Given the description of an element on the screen output the (x, y) to click on. 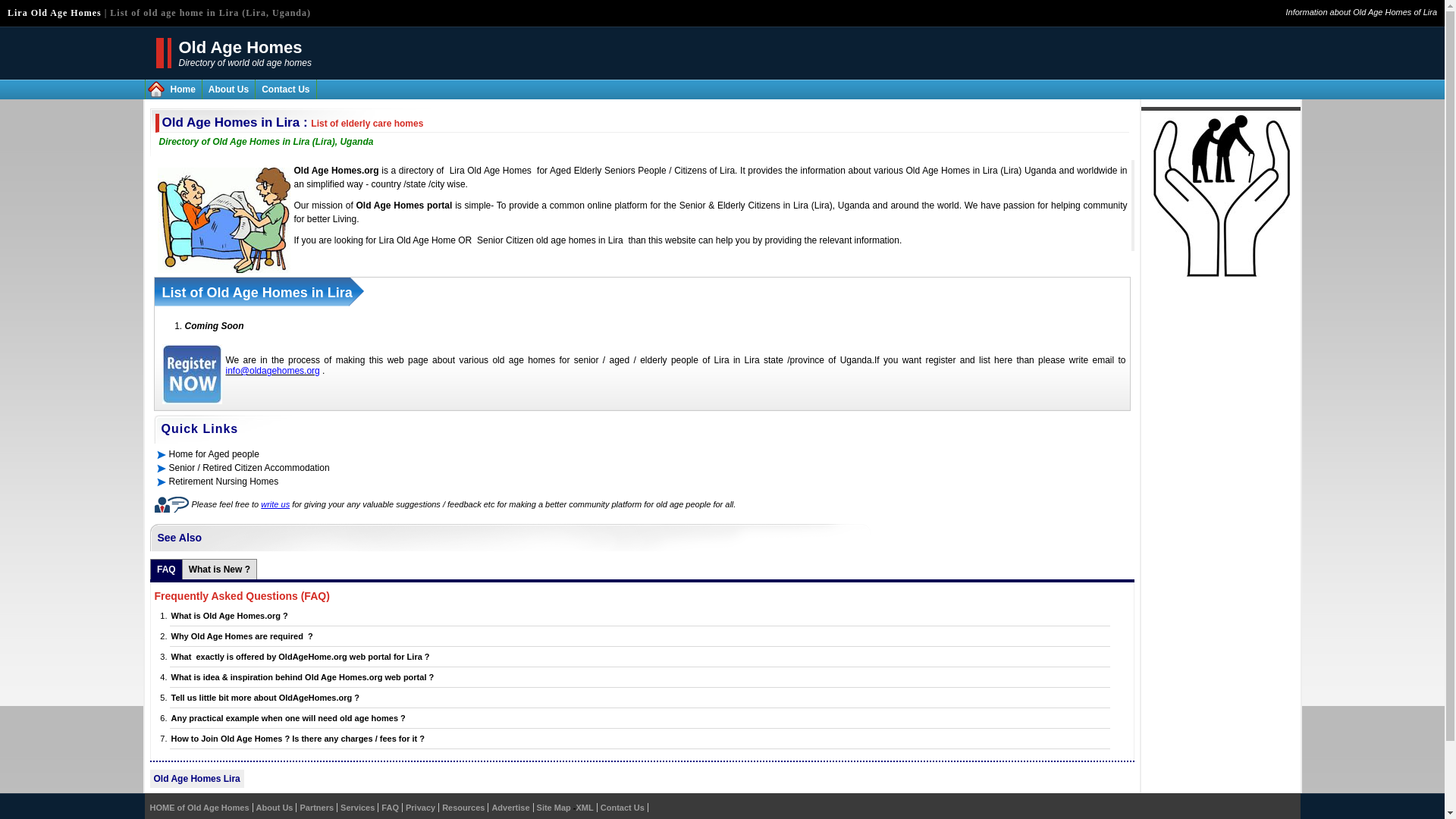
HOME of Old Age Homes (198, 807)
Old Age Homes in Lira : List of elderly care homes (292, 122)
old age homes in Lira (579, 240)
Partners (316, 807)
Contact Us (285, 89)
Old Age Homes Lira (196, 778)
About Us (275, 807)
FAQ (389, 807)
Home (181, 89)
write us (274, 503)
What is New ? (220, 569)
Old Age Homes (240, 46)
About Us (228, 89)
Privacy (420, 807)
Services (357, 807)
